Given the description of an element on the screen output the (x, y) to click on. 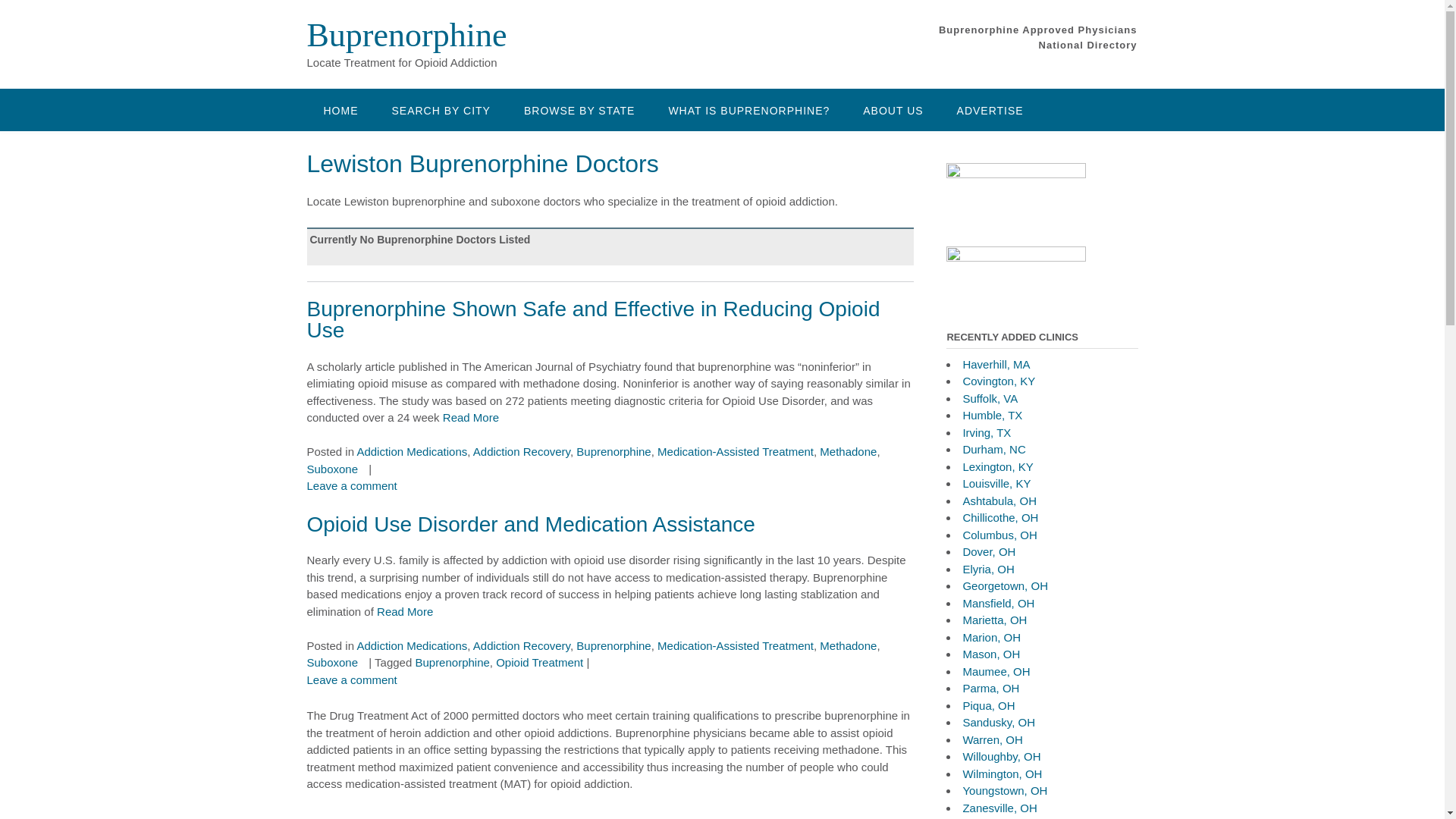
Buprenorphine (405, 35)
Buprenorphine (405, 35)
HOME (339, 109)
SEARCH BY CITY (440, 109)
BROWSE BY STATE (578, 109)
